Given the description of an element on the screen output the (x, y) to click on. 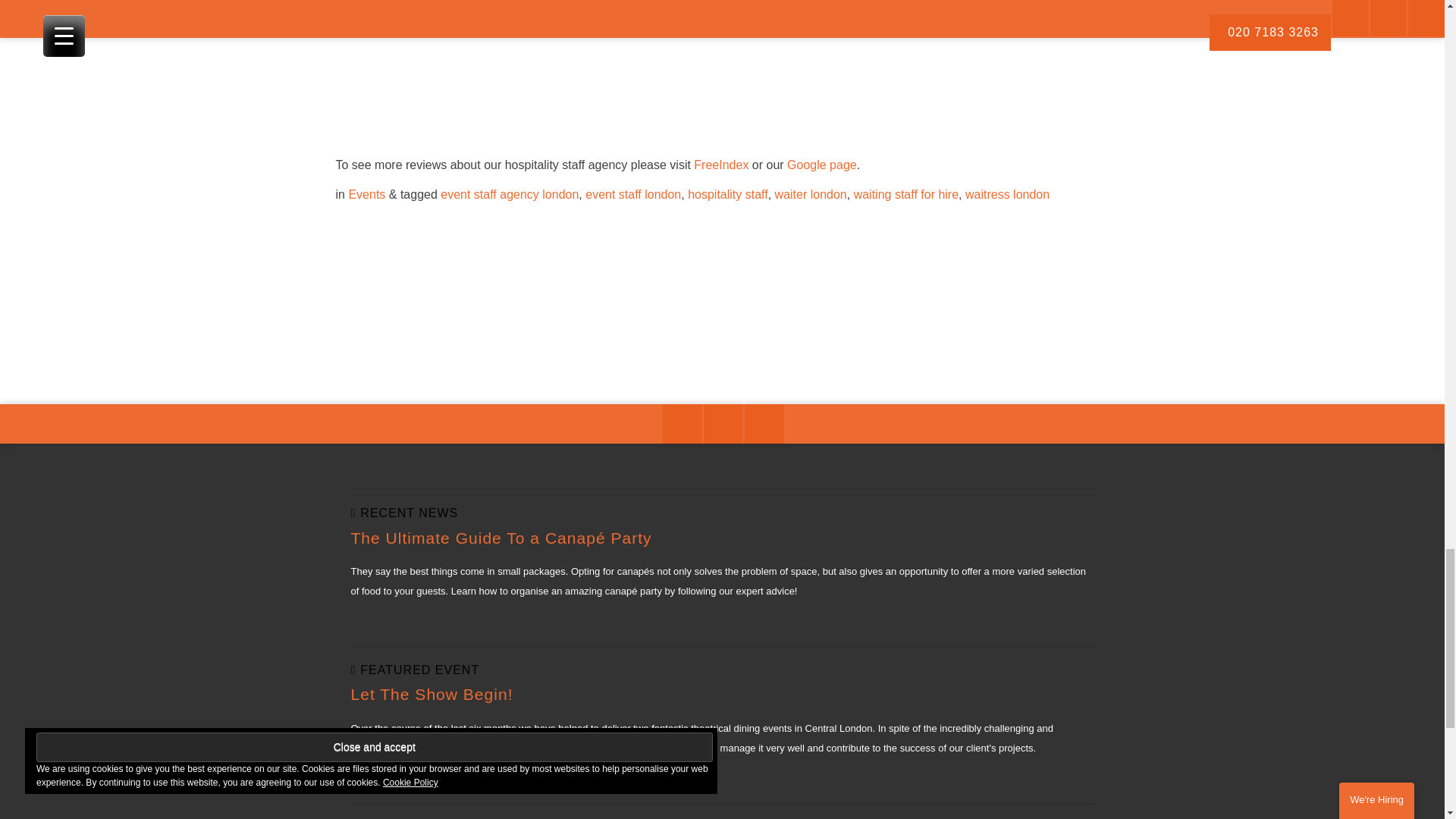
Google page (822, 164)
Events (366, 194)
event staff agency london (509, 194)
waitress london (1007, 194)
waiter london (810, 194)
FreeIndex (721, 164)
Let The Show Begin! (431, 693)
event staff london (633, 194)
waiting staff for hire (905, 194)
hospitality staff (727, 194)
